Given the description of an element on the screen output the (x, y) to click on. 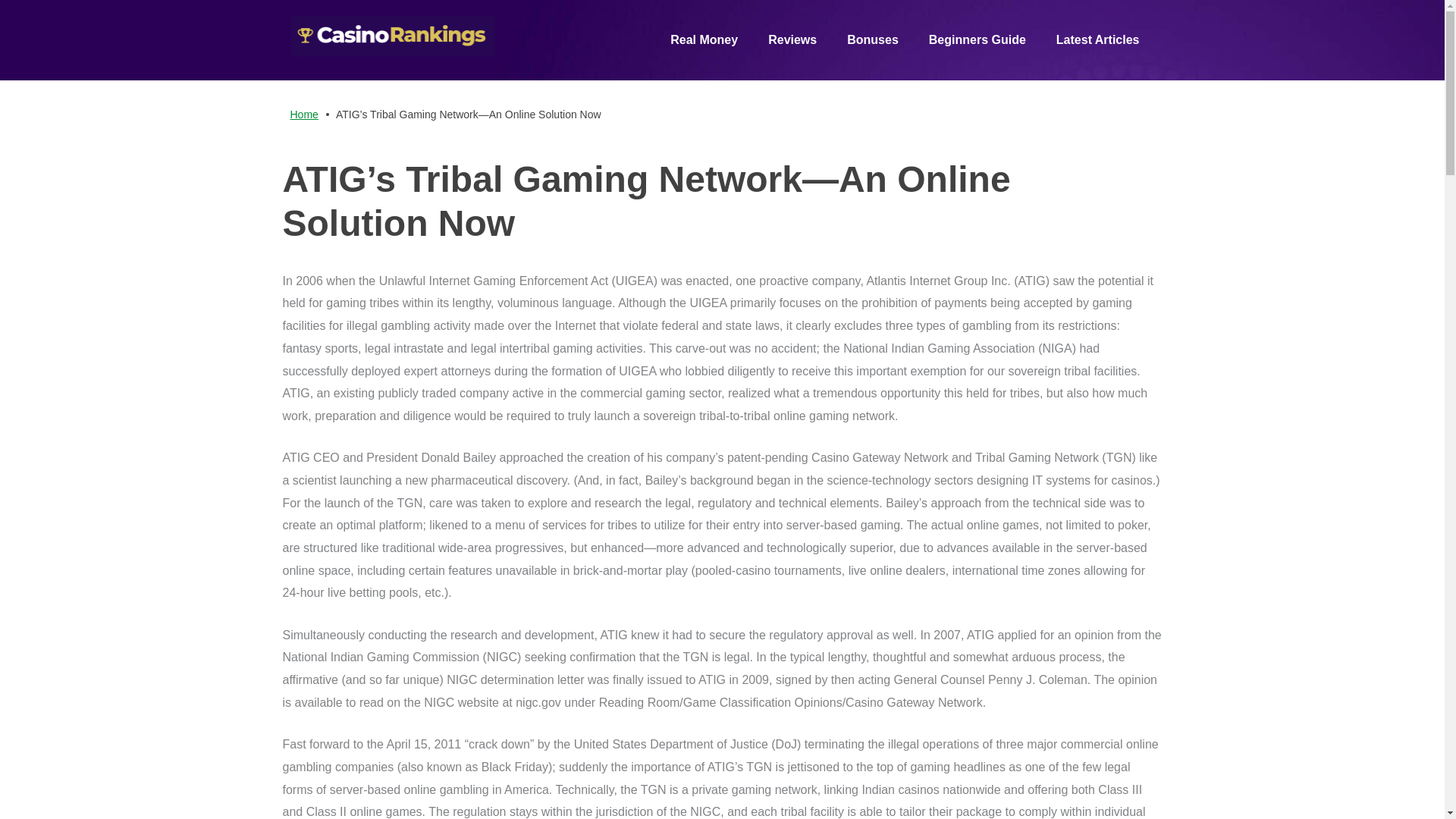
Home (303, 114)
Beginners Guide (977, 39)
Reviews (791, 39)
Bonuses (872, 39)
Latest Articles (1097, 39)
Real Money (703, 39)
